Given the description of an element on the screen output the (x, y) to click on. 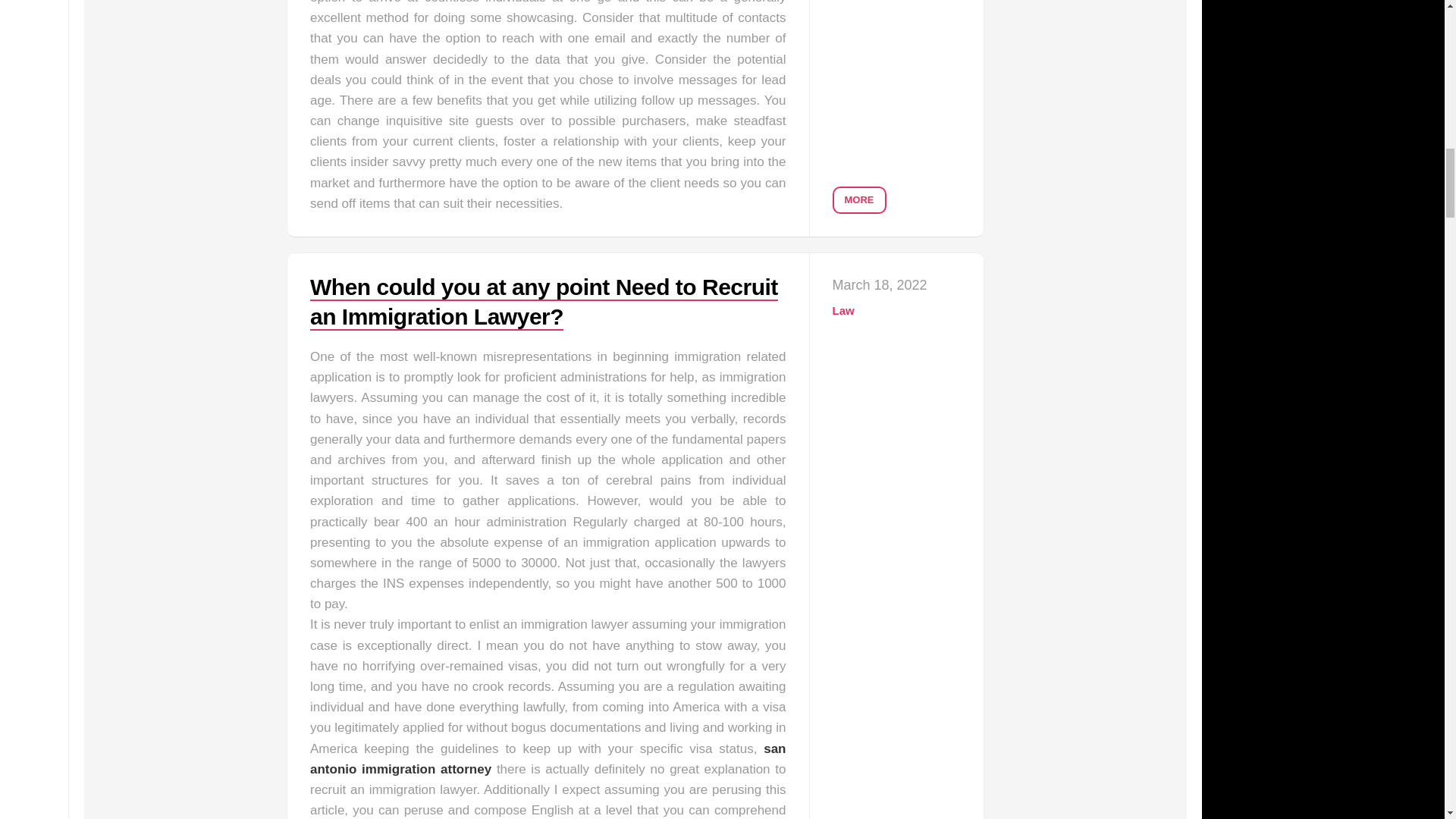
MORE (859, 200)
san antonio immigration attorney (548, 759)
Law (843, 309)
